Given the description of an element on the screen output the (x, y) to click on. 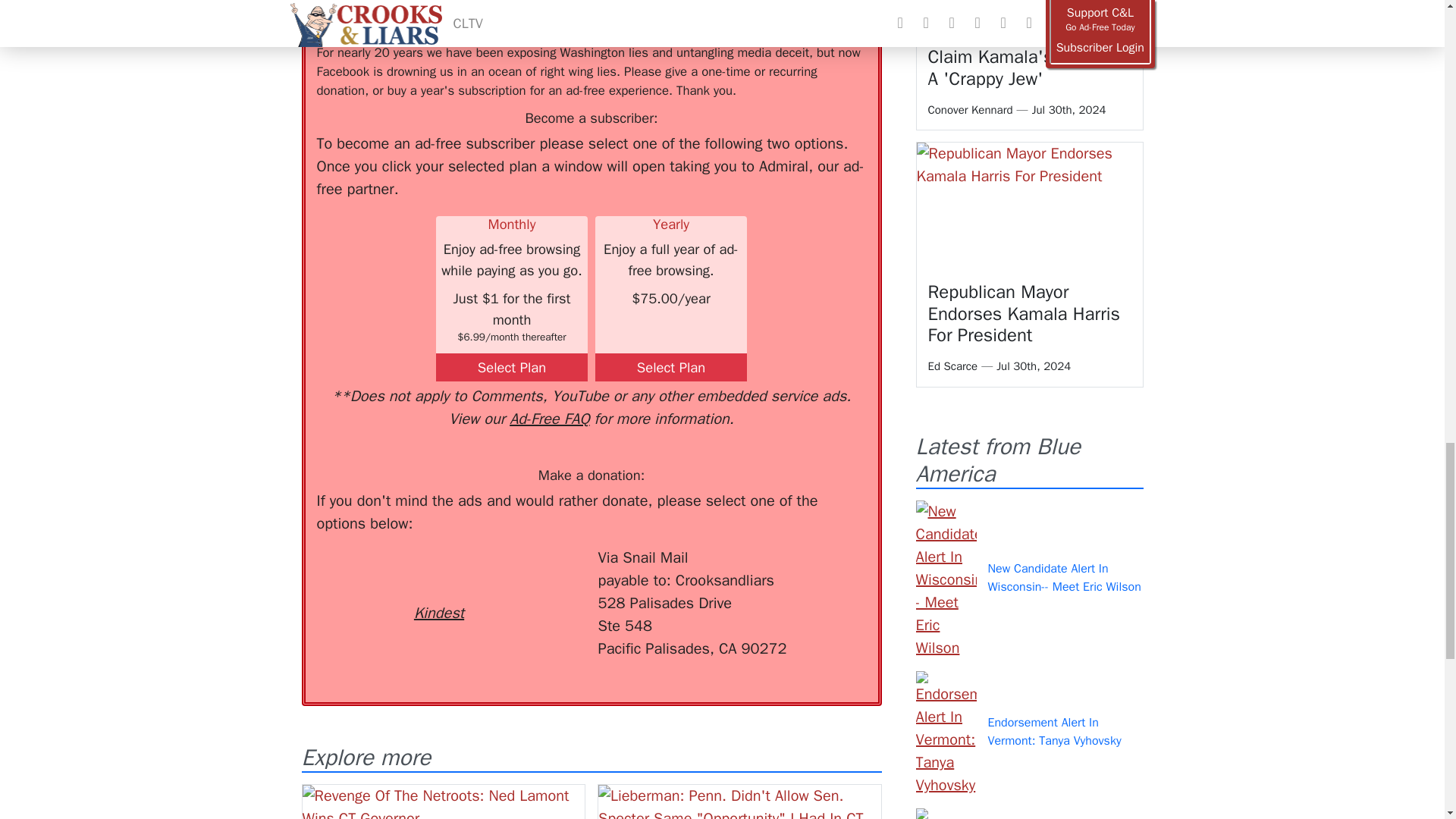
Donate via Kindest (438, 585)
Revenge Of The Netroots: Ned Lamont Wins CT Governor (443, 801)
Donate via PayPal (540, 574)
